Given the description of an element on the screen output the (x, y) to click on. 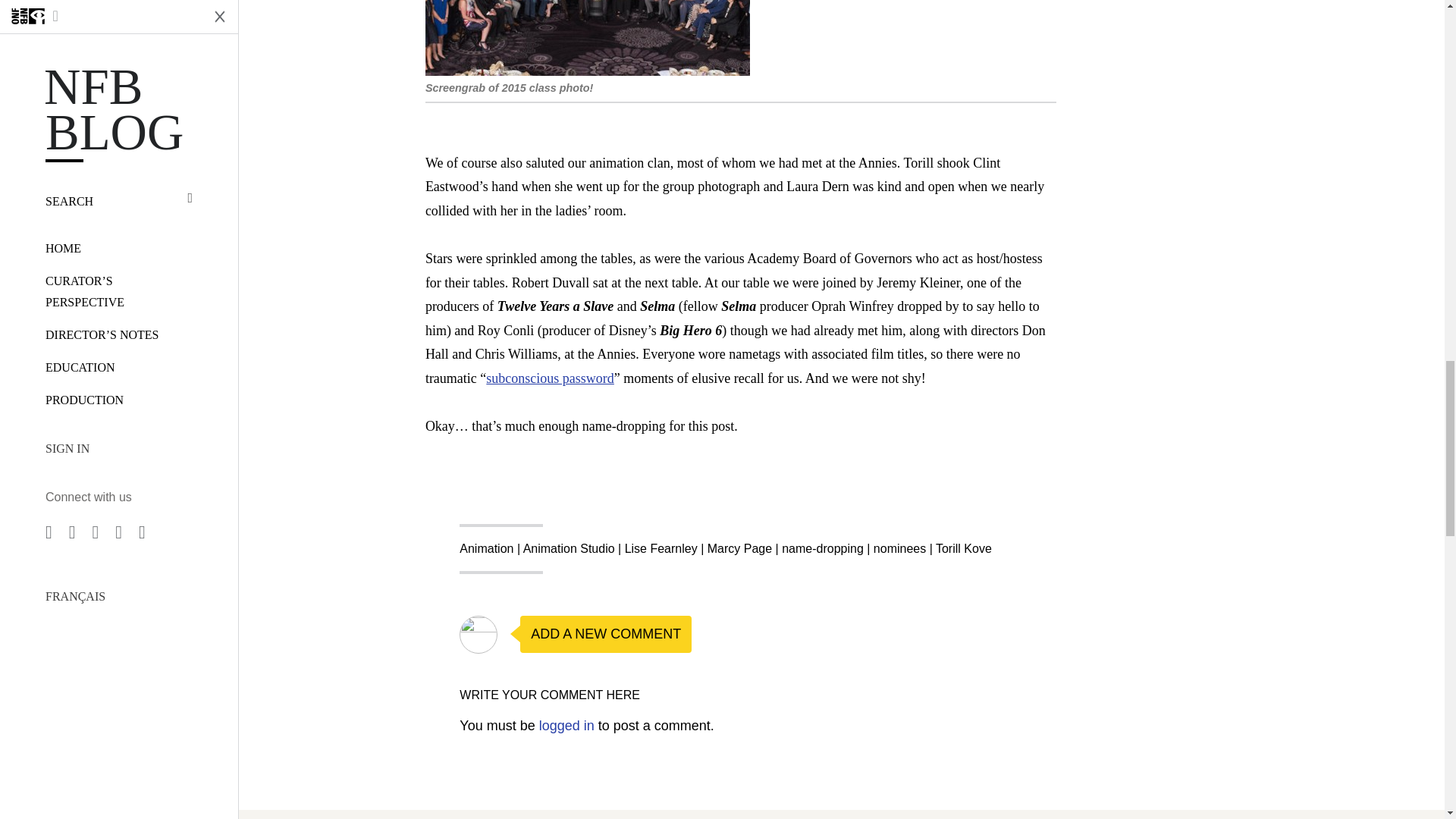
Animation (486, 548)
Marcy Page (739, 548)
name-dropping (822, 548)
Torill Kove (963, 548)
Lise Fearnley (660, 548)
subconscious password (550, 378)
Animation Studio (568, 548)
nominees (899, 548)
